Given the description of an element on the screen output the (x, y) to click on. 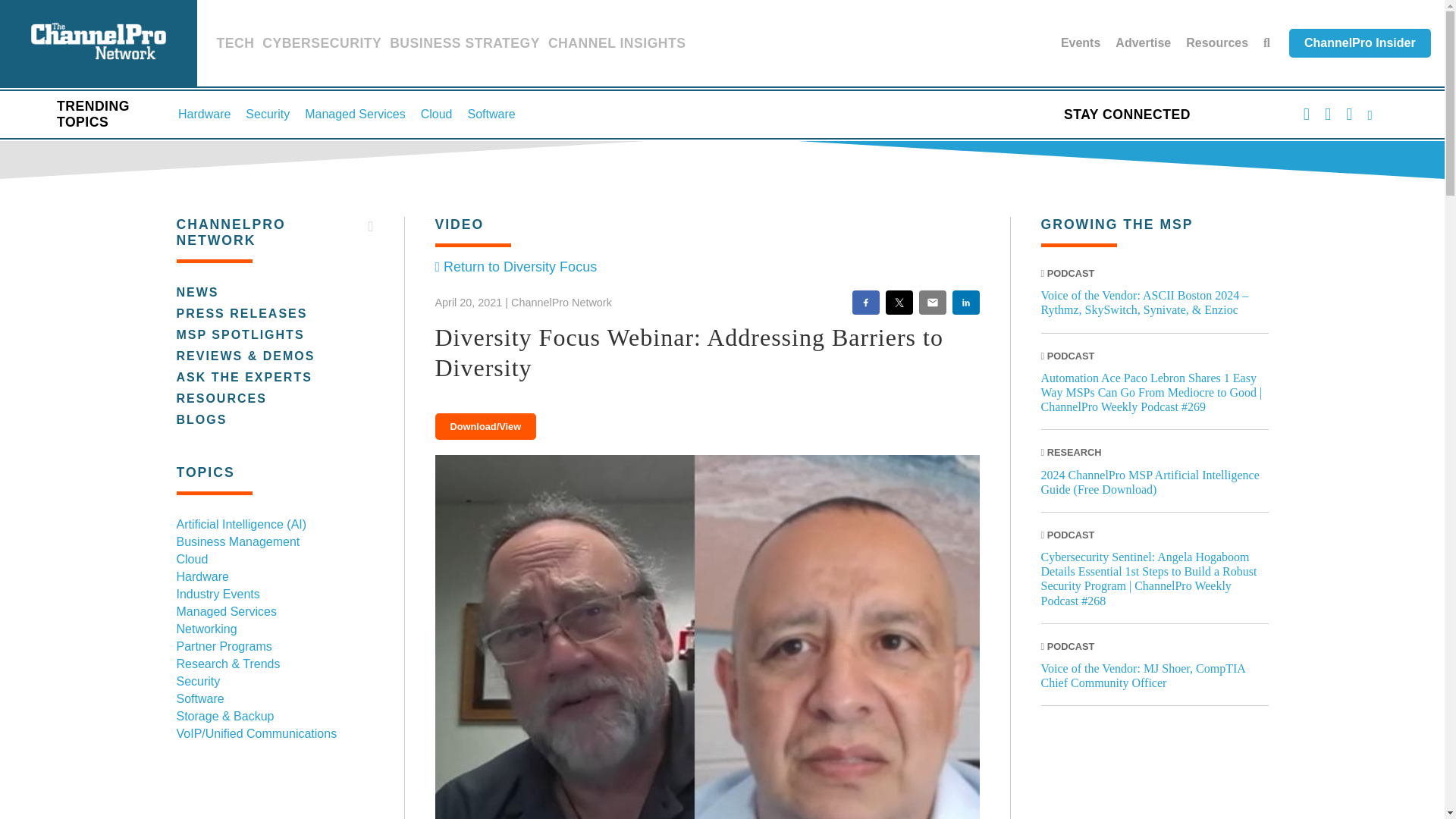
Events (1080, 42)
ChannelPro Insider (1359, 42)
BUSINESS STRATEGY (464, 45)
Advertise (1142, 42)
Posts by ChannelPro Network (561, 302)
Resources (1216, 42)
ChannelPro Insider (1359, 42)
CYBERSECURITY (322, 45)
CHANNEL INSIGHTS (616, 45)
